Given the description of an element on the screen output the (x, y) to click on. 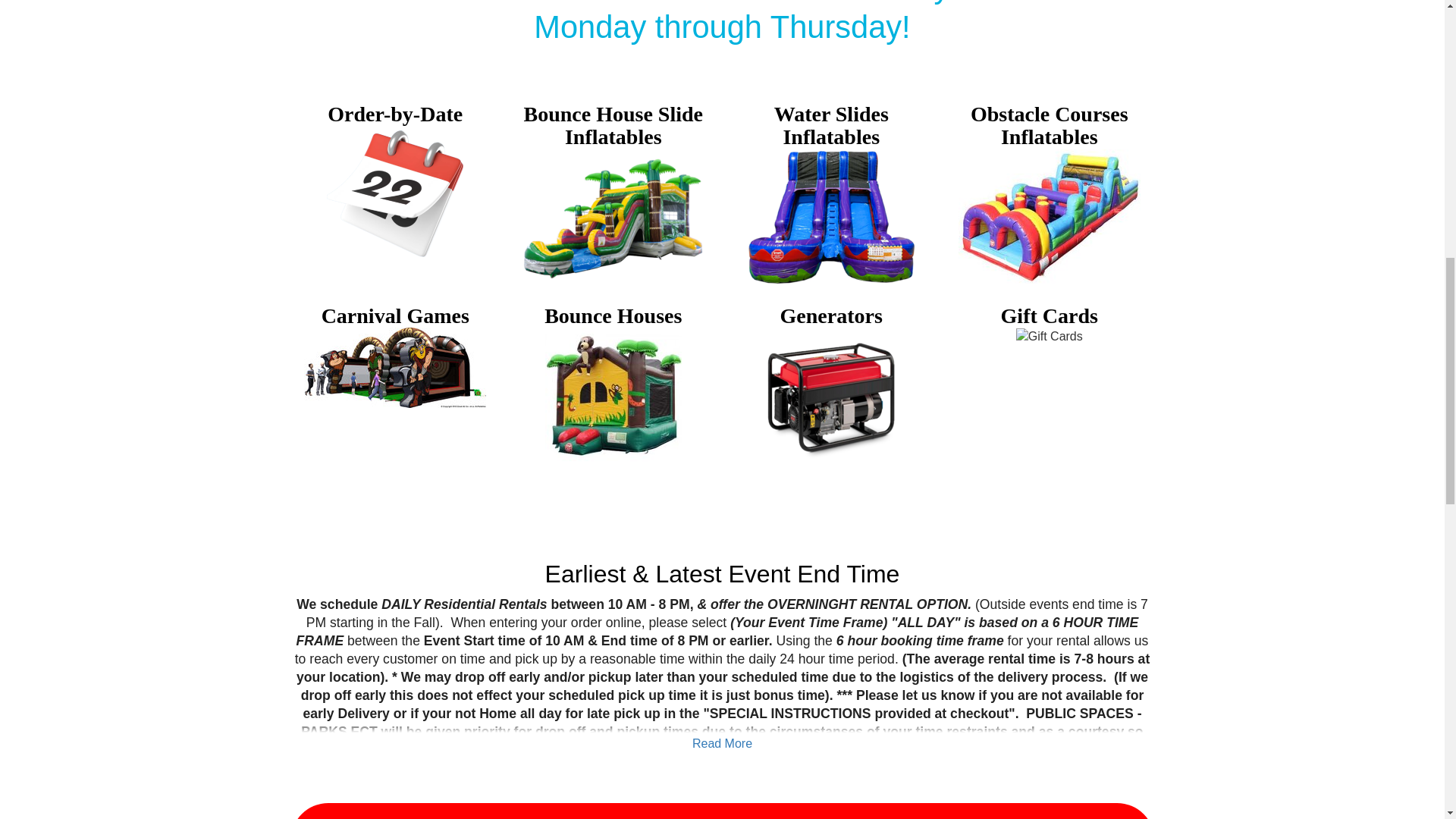
Bounce Houses (612, 395)
Obstacle Courses Inflatables (1049, 217)
Bounce House Slide Inflatables (613, 217)
Read More (722, 743)
Order-by-Date (394, 194)
Generators (830, 395)
Carnival Games (395, 367)
Water Slides Inflatables (831, 217)
Gift Cards (1049, 336)
